Given the description of an element on the screen output the (x, y) to click on. 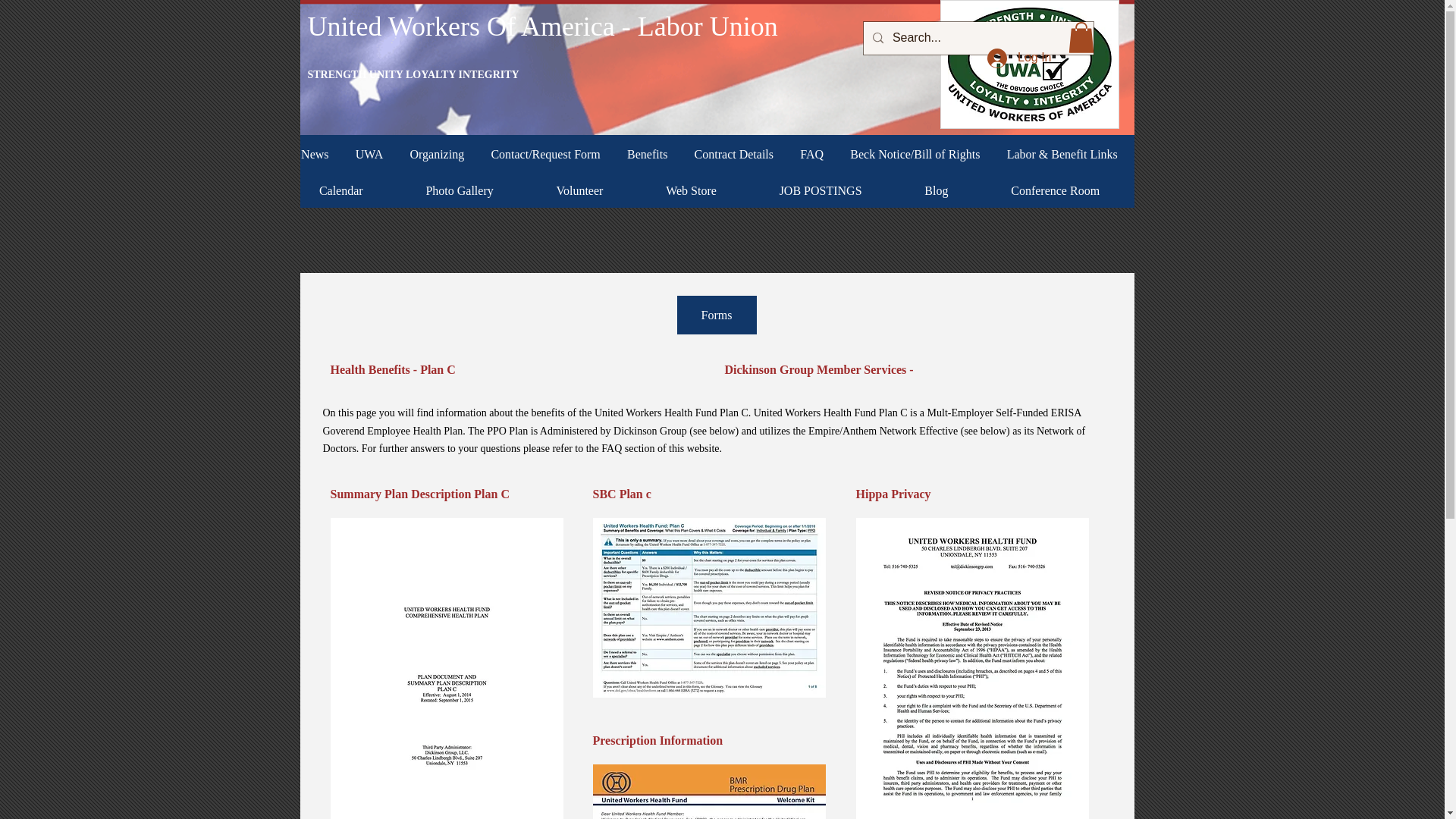
Forms (716, 314)
Organizing (437, 154)
Blog (936, 190)
Photo Gallery (459, 190)
Calendar (340, 190)
Log In (1018, 58)
Contract Details (733, 154)
JOB POSTINGS (820, 190)
Conference Room (1055, 190)
Volunteer (580, 190)
